Given the description of an element on the screen output the (x, y) to click on. 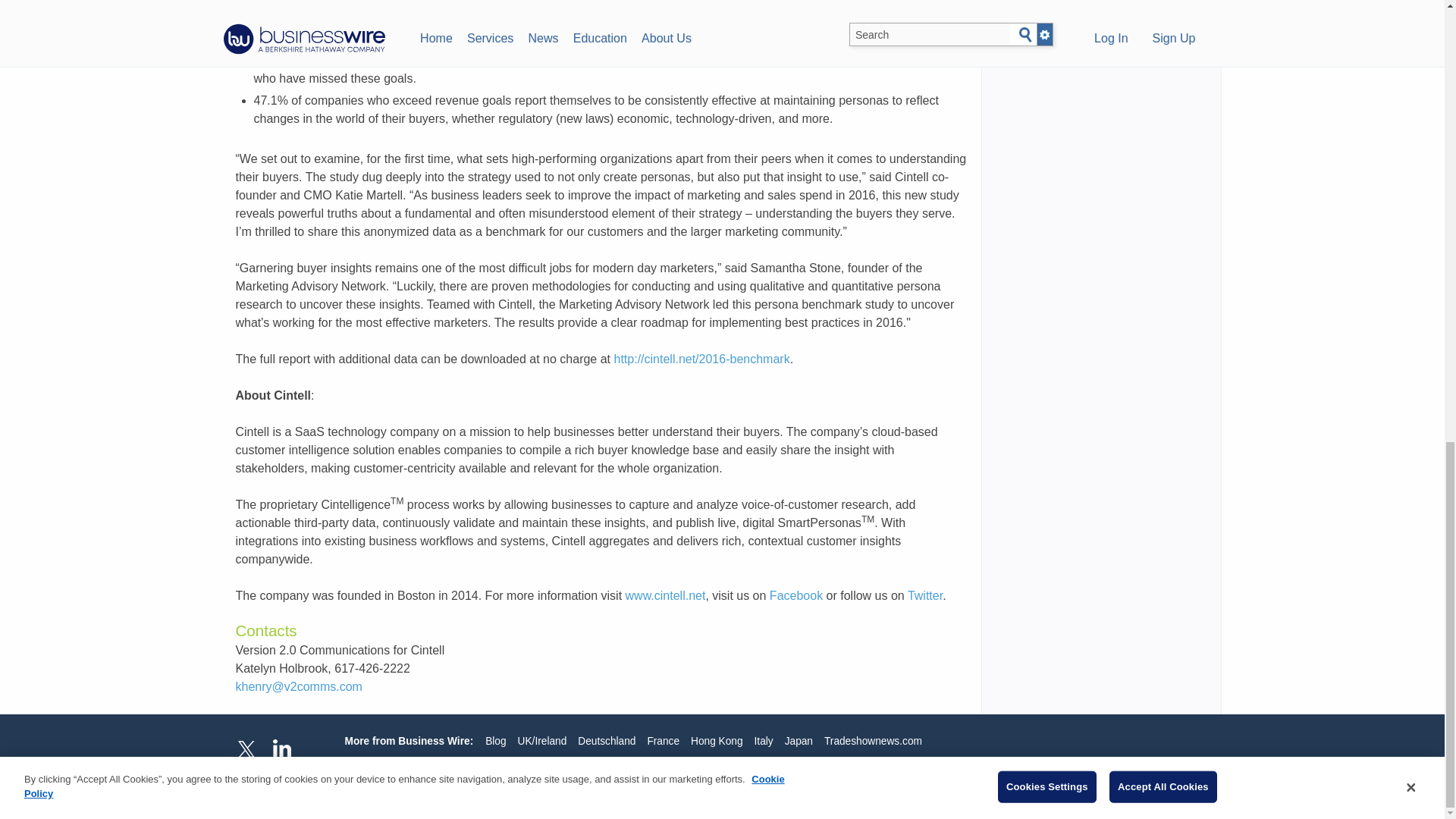
www.cintell.net (666, 594)
Facebook (796, 594)
Twitter (924, 594)
